Given the description of an element on the screen output the (x, y) to click on. 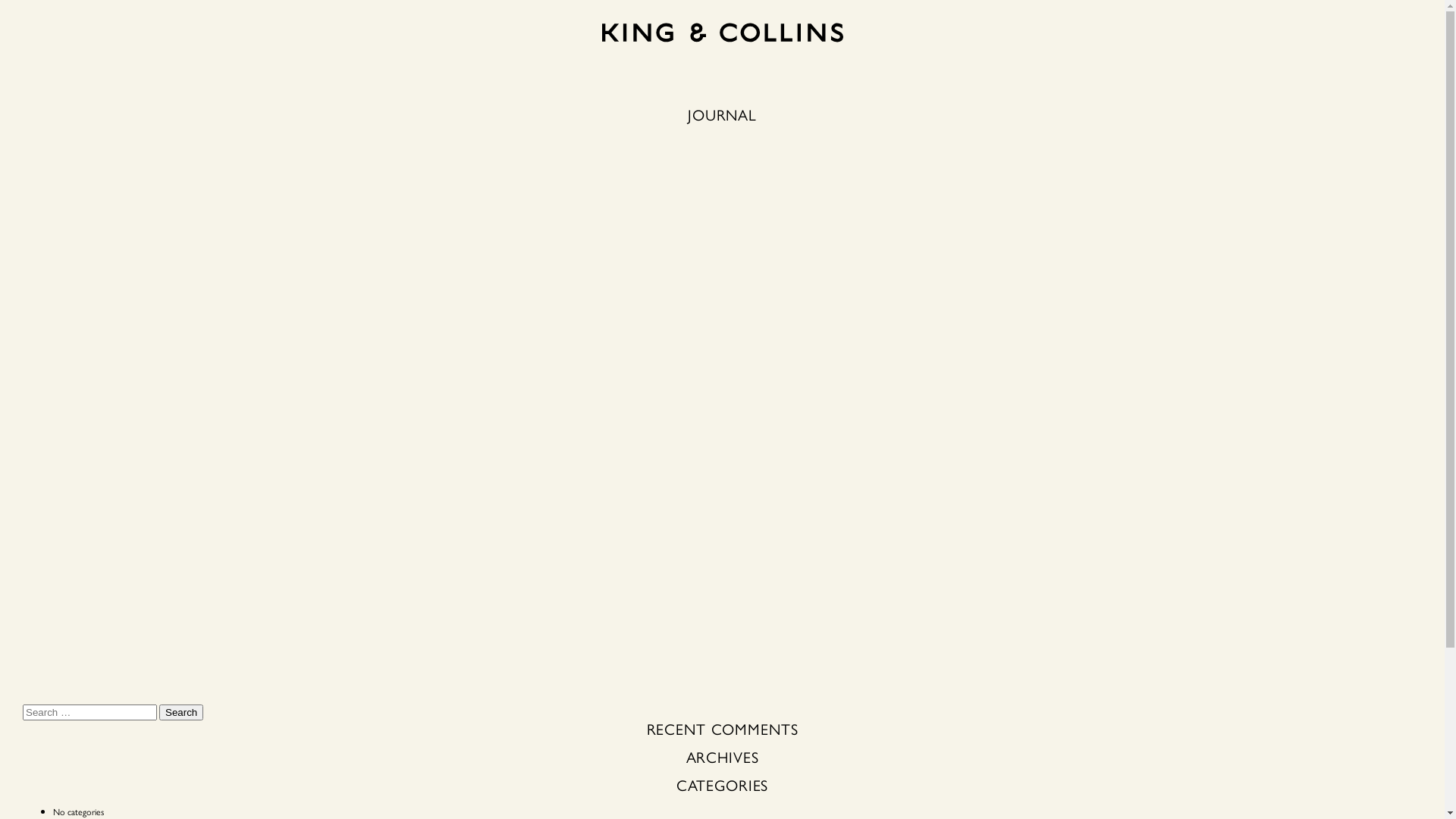
Search Element type: text (181, 712)
